Given the description of an element on the screen output the (x, y) to click on. 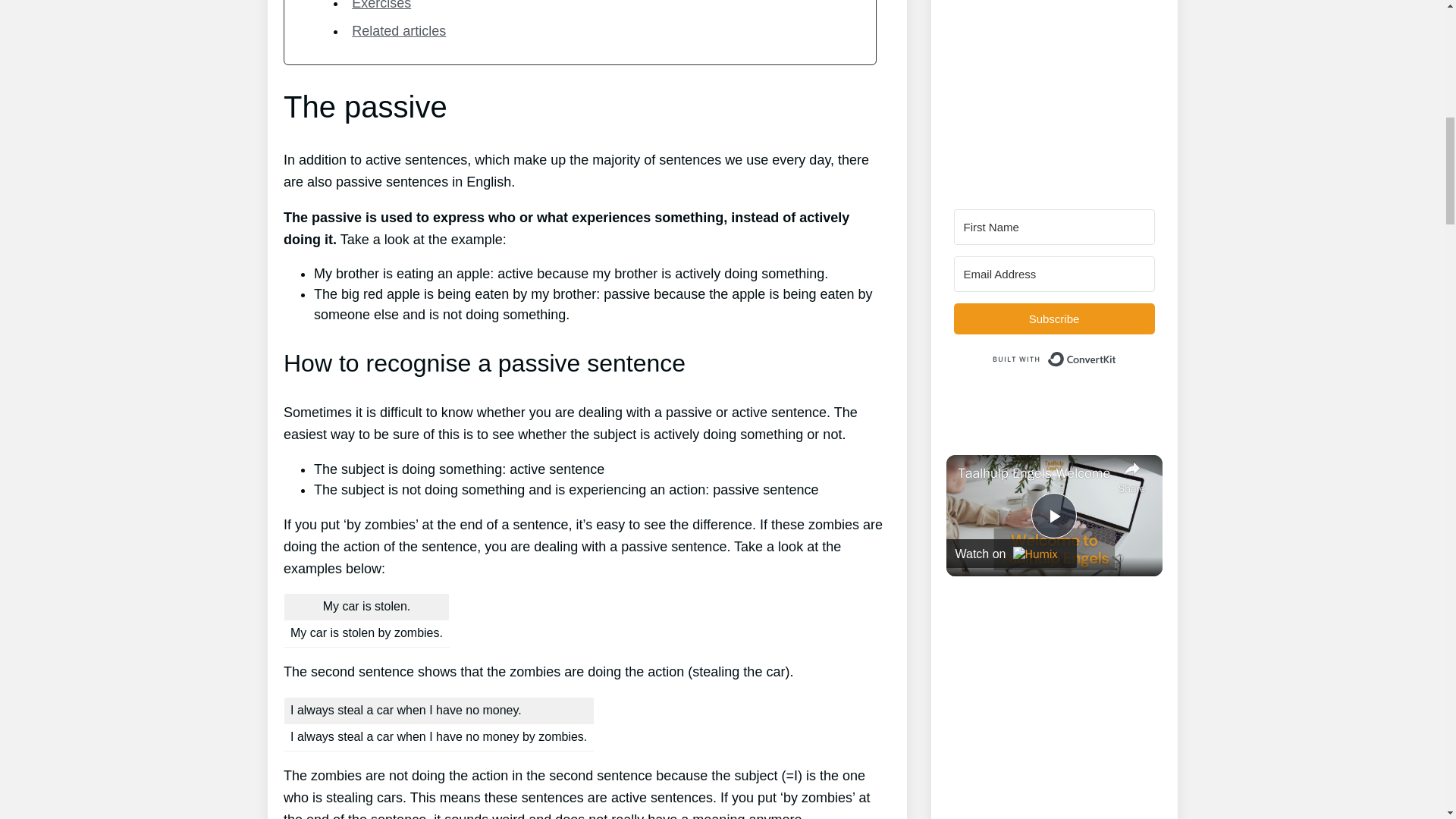
Play Video (1053, 515)
